Given the description of an element on the screen output the (x, y) to click on. 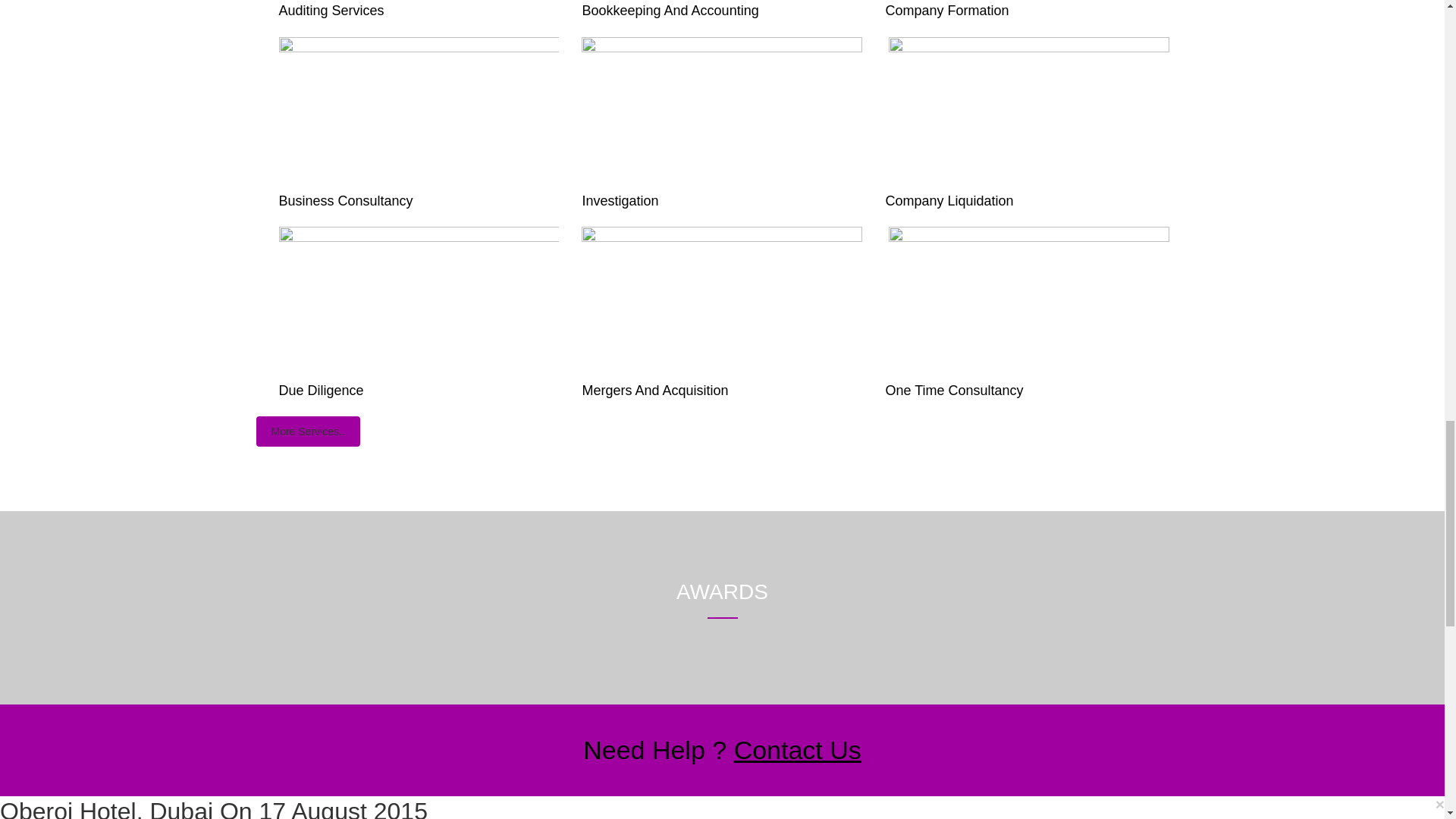
Investigation (619, 200)
Auditing Services (331, 10)
Company Formation (947, 10)
Bookkeeping And Accounting (669, 10)
Business Consultancy (346, 200)
